Given the description of an element on the screen output the (x, y) to click on. 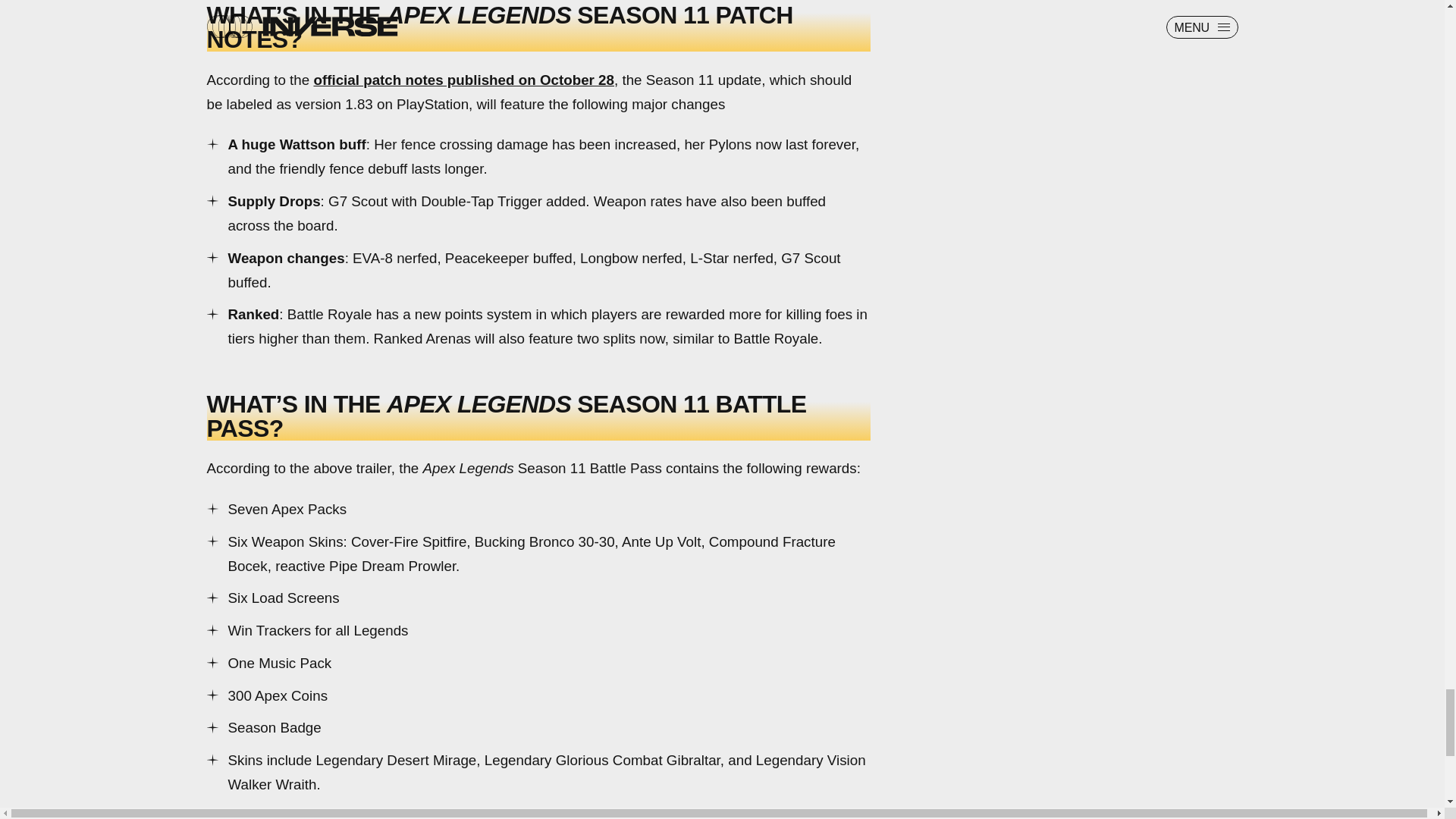
official patch notes published on October 28 (463, 79)
